Given the description of an element on the screen output the (x, y) to click on. 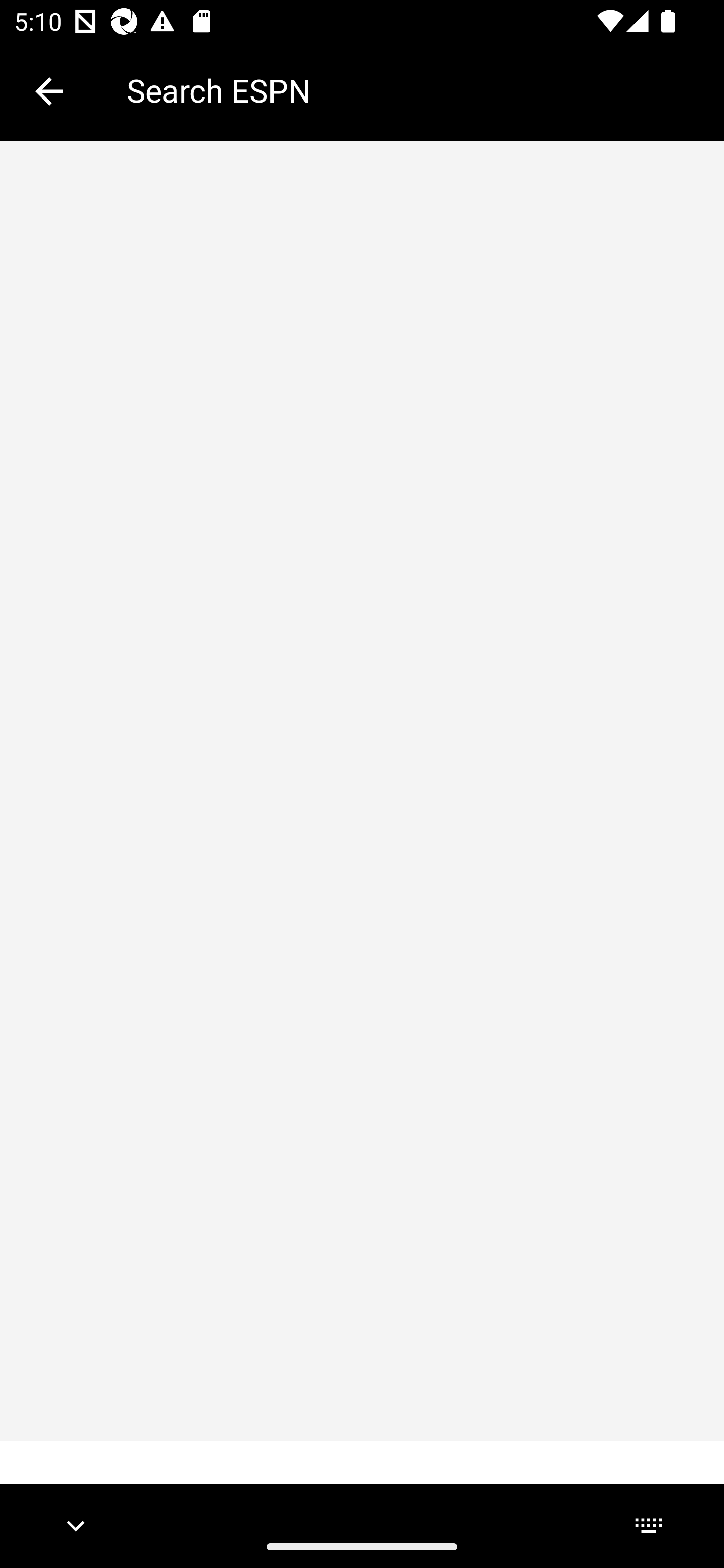
Collapse (49, 91)
Search ESPN (411, 90)
